Given the description of an element on the screen output the (x, y) to click on. 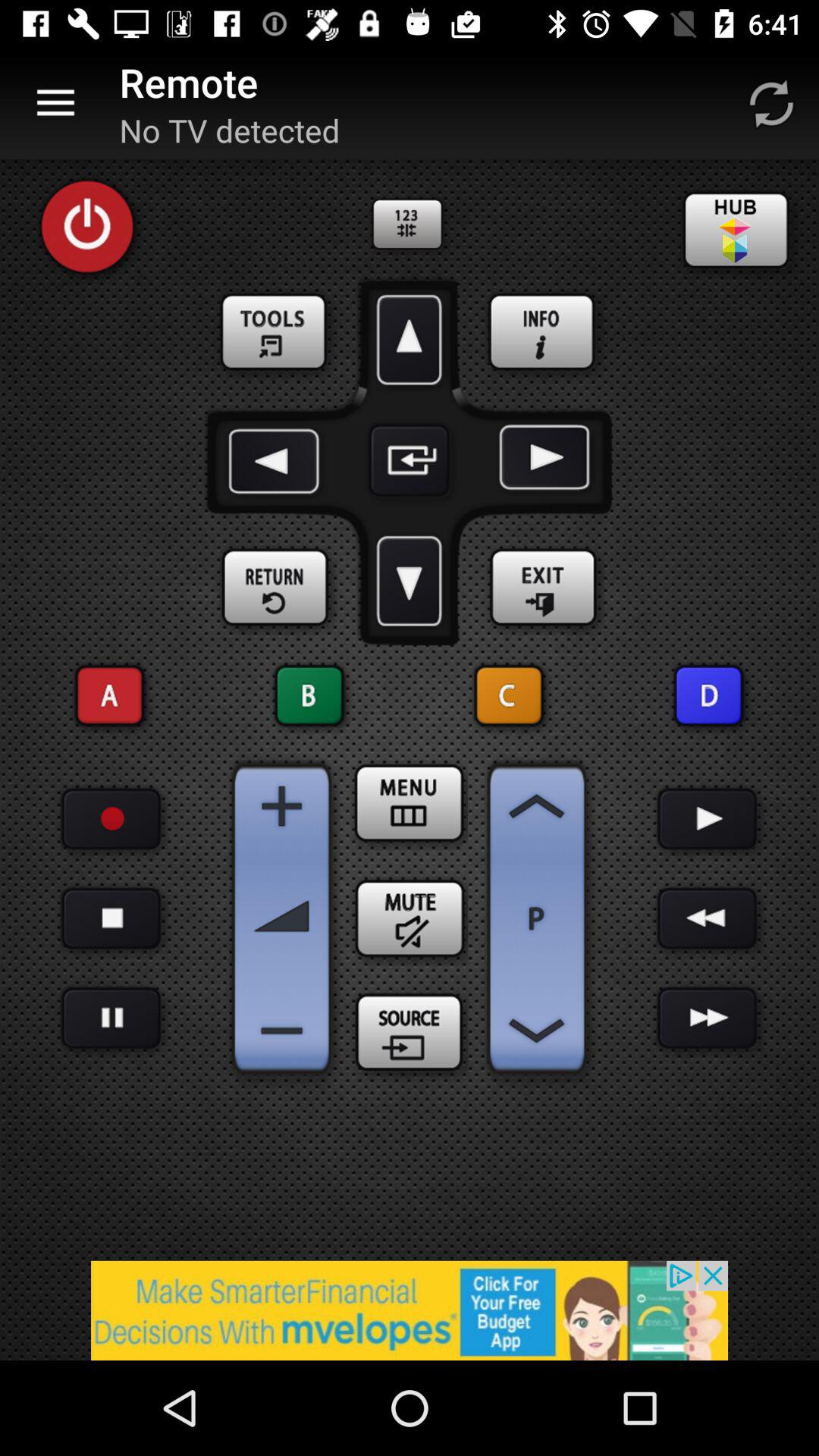
b (309, 695)
